Given the description of an element on the screen output the (x, y) to click on. 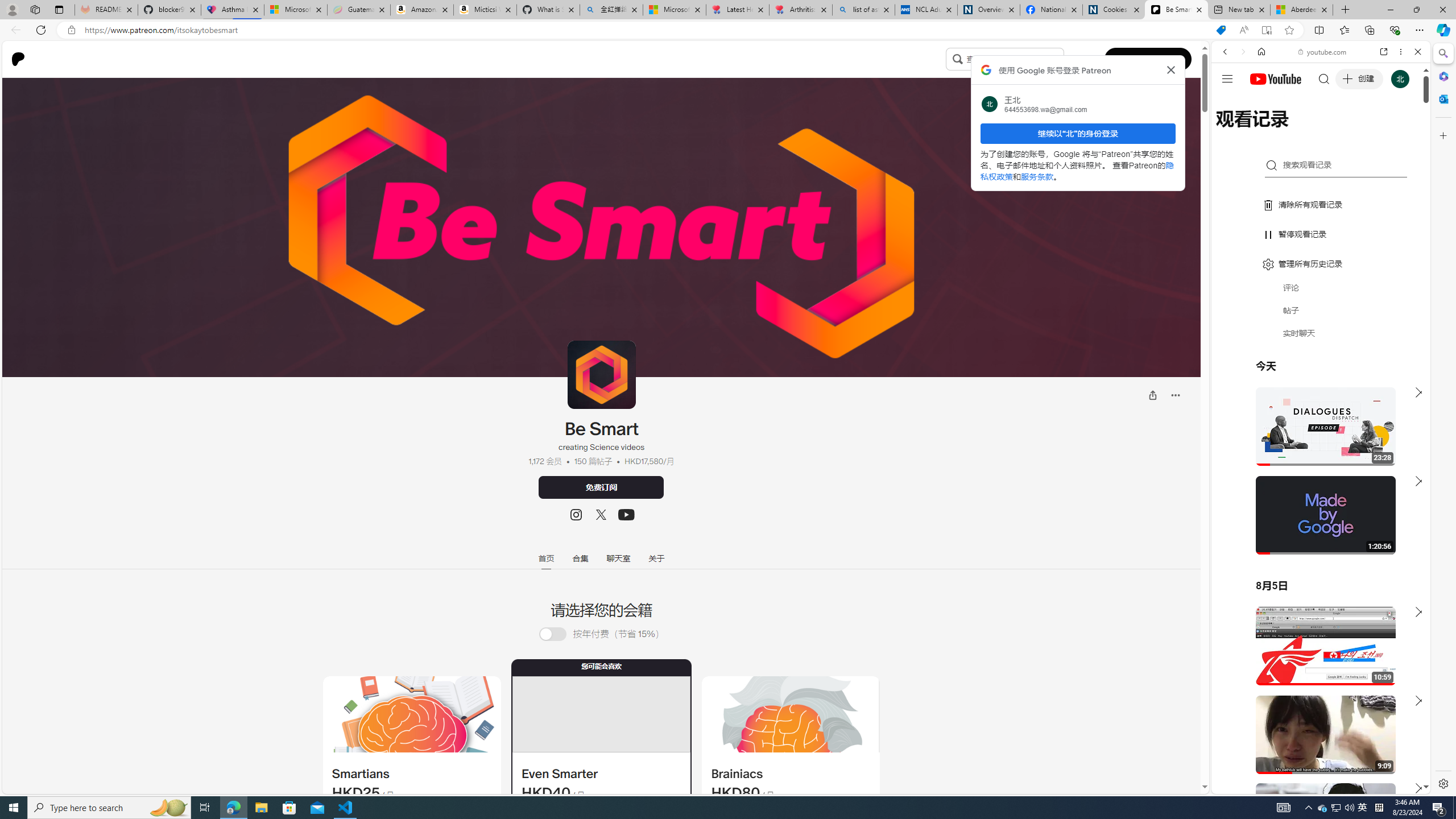
Class: sc-jrQzAO inFiZu (957, 58)
Patreon logo (17, 59)
